Given the description of an element on the screen output the (x, y) to click on. 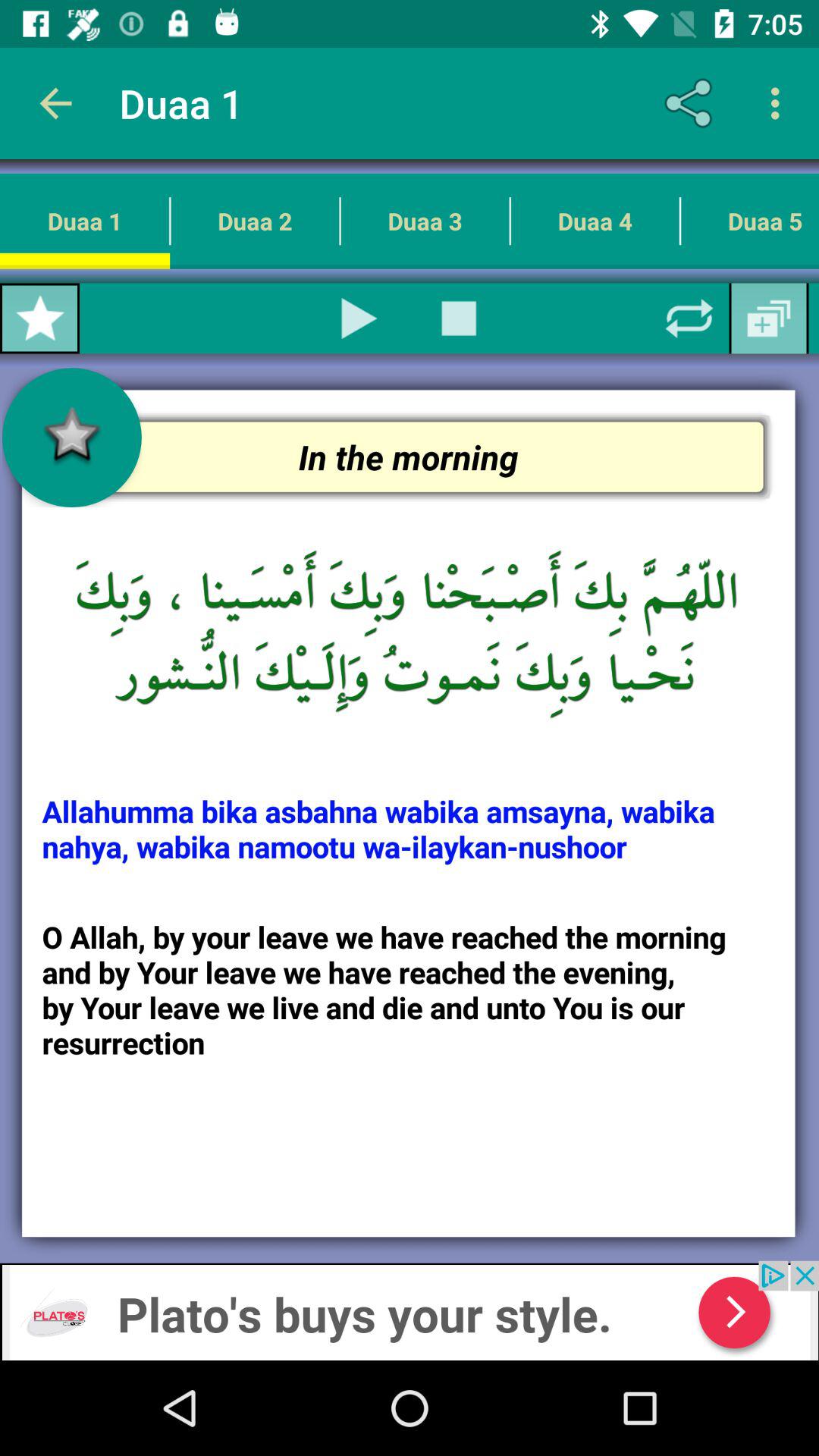
tap item to the left of duaa 4 app (458, 318)
